Given the description of an element on the screen output the (x, y) to click on. 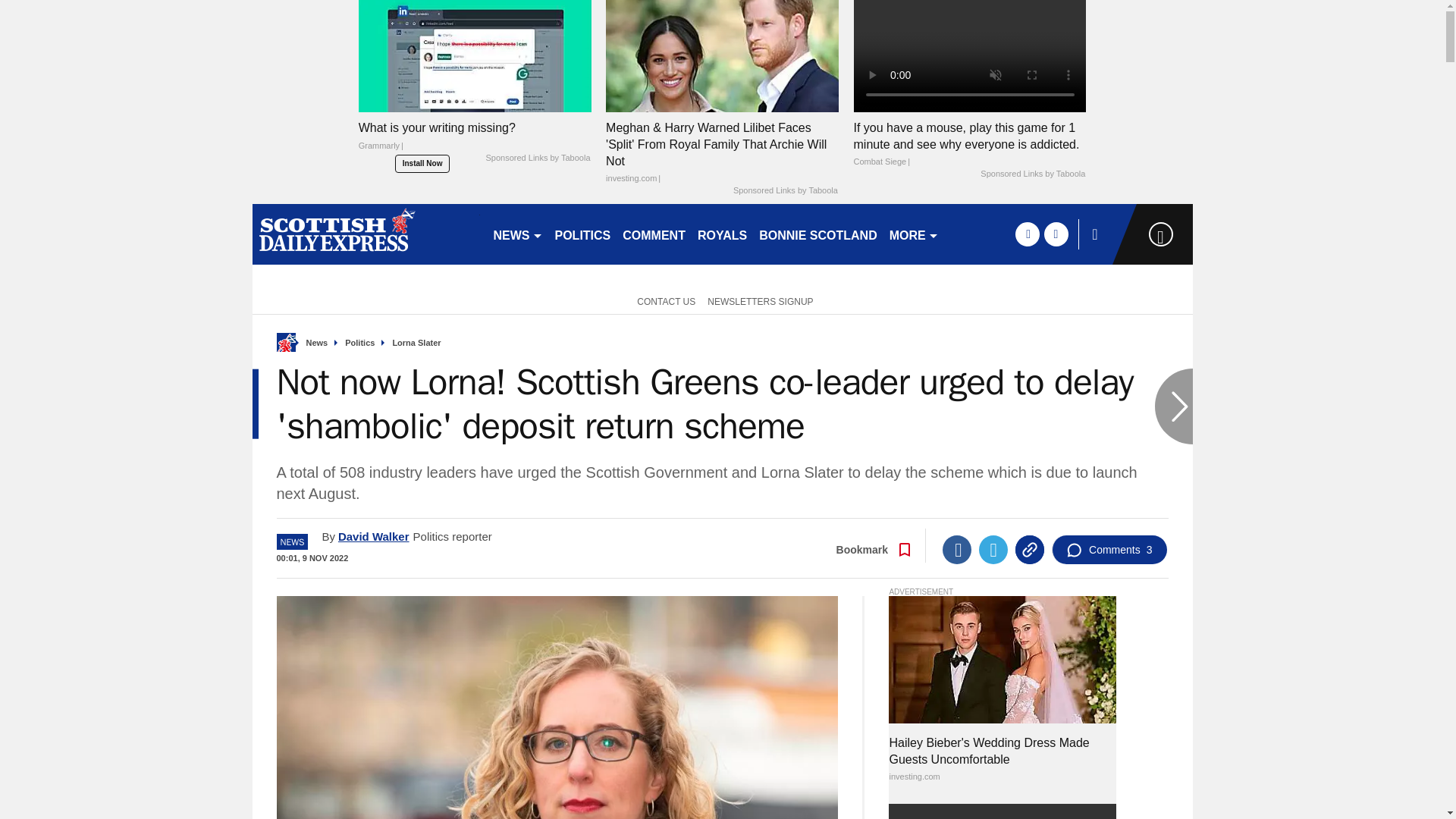
Facebook (956, 549)
ROYALS (721, 233)
NEWS (517, 233)
BONNIE SCOTLAND (817, 233)
What is your writing missing? (474, 55)
What is your writing missing? (474, 140)
MORE (913, 233)
scottishdailyexpress (365, 233)
Install Now (421, 163)
Sponsored Links by Taboola (1031, 174)
Sponsored Links by Taboola (536, 158)
facebook (1026, 233)
Sponsored Links by Taboola (785, 190)
twitter (1055, 233)
